Given the description of an element on the screen output the (x, y) to click on. 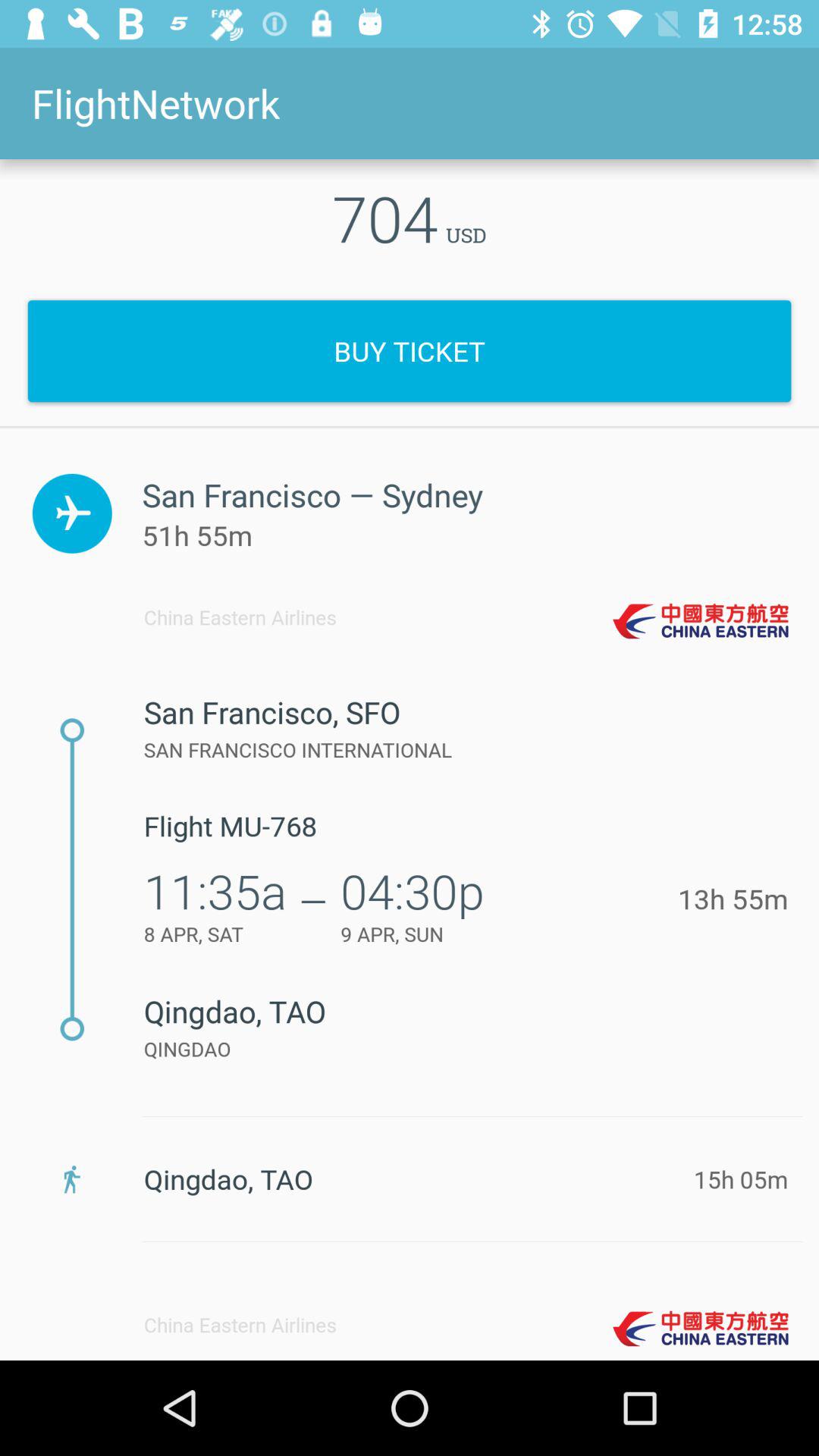
choose icon below the 704 (409, 351)
